Given the description of an element on the screen output the (x, y) to click on. 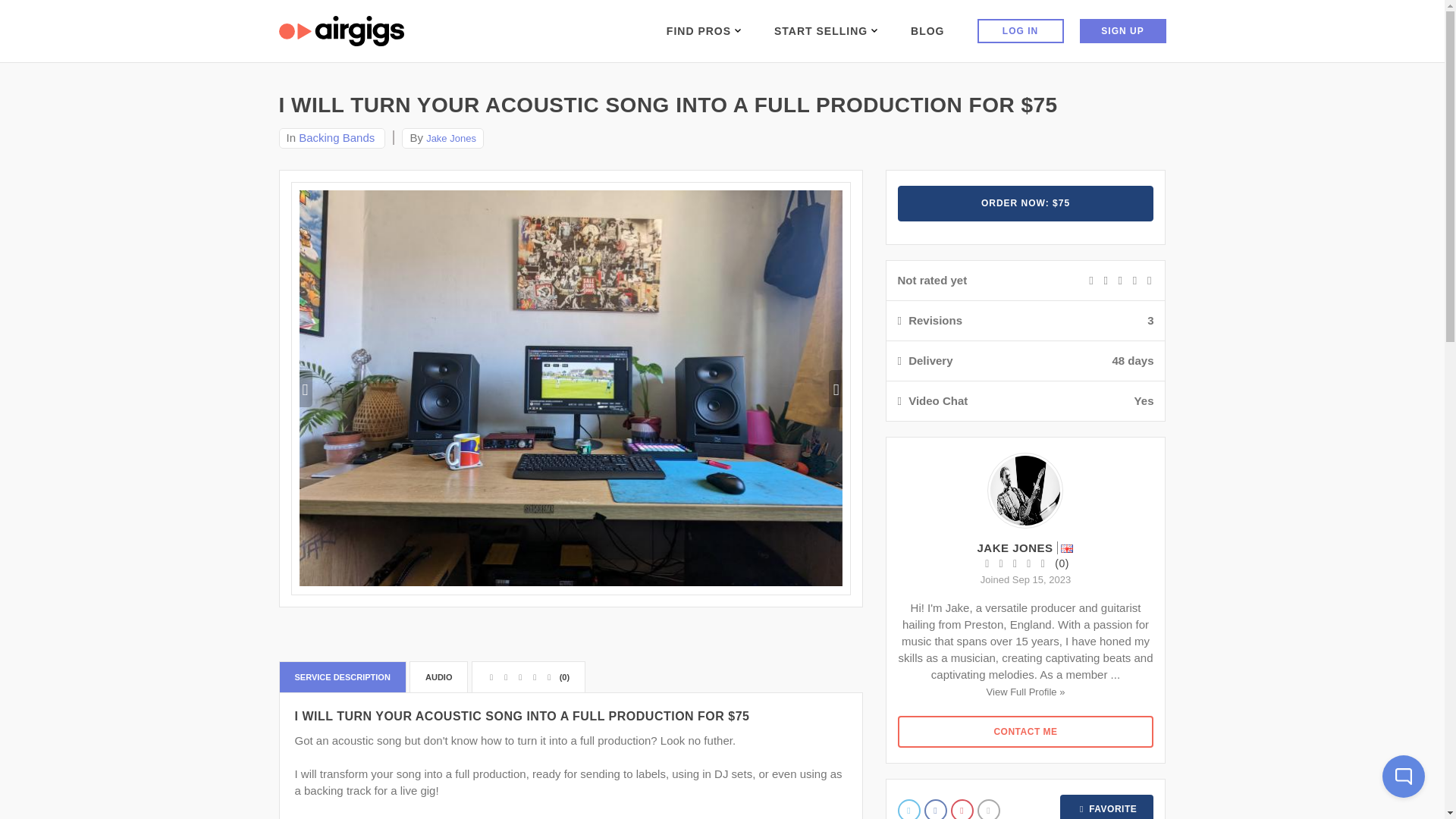
Order Now (1026, 203)
Backing Bands (336, 137)
Find Pros (703, 30)
contact (1026, 731)
FIND PROS (703, 30)
